Given the description of an element on the screen output the (x, y) to click on. 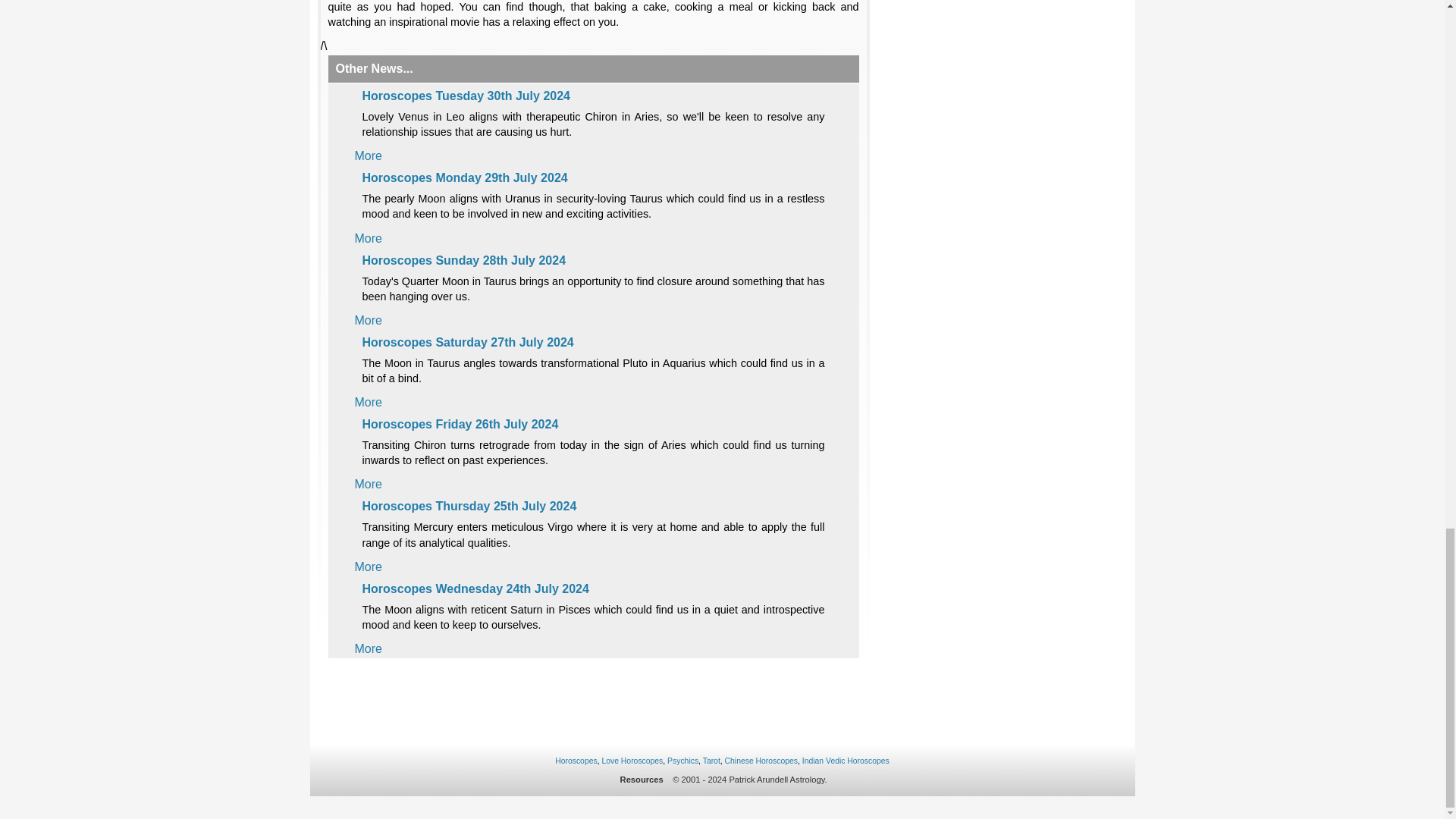
Horoscopes Friday 26th July 2024 (460, 423)
Horoscopes Saturday 27th July 2024 (467, 341)
Horoscopes Tuesday 30th July 2024 (466, 95)
Horoscopes Sunday 28th July 2024 (464, 259)
Horoscopes Monday 29th July 2024 (464, 177)
